Given the description of an element on the screen output the (x, y) to click on. 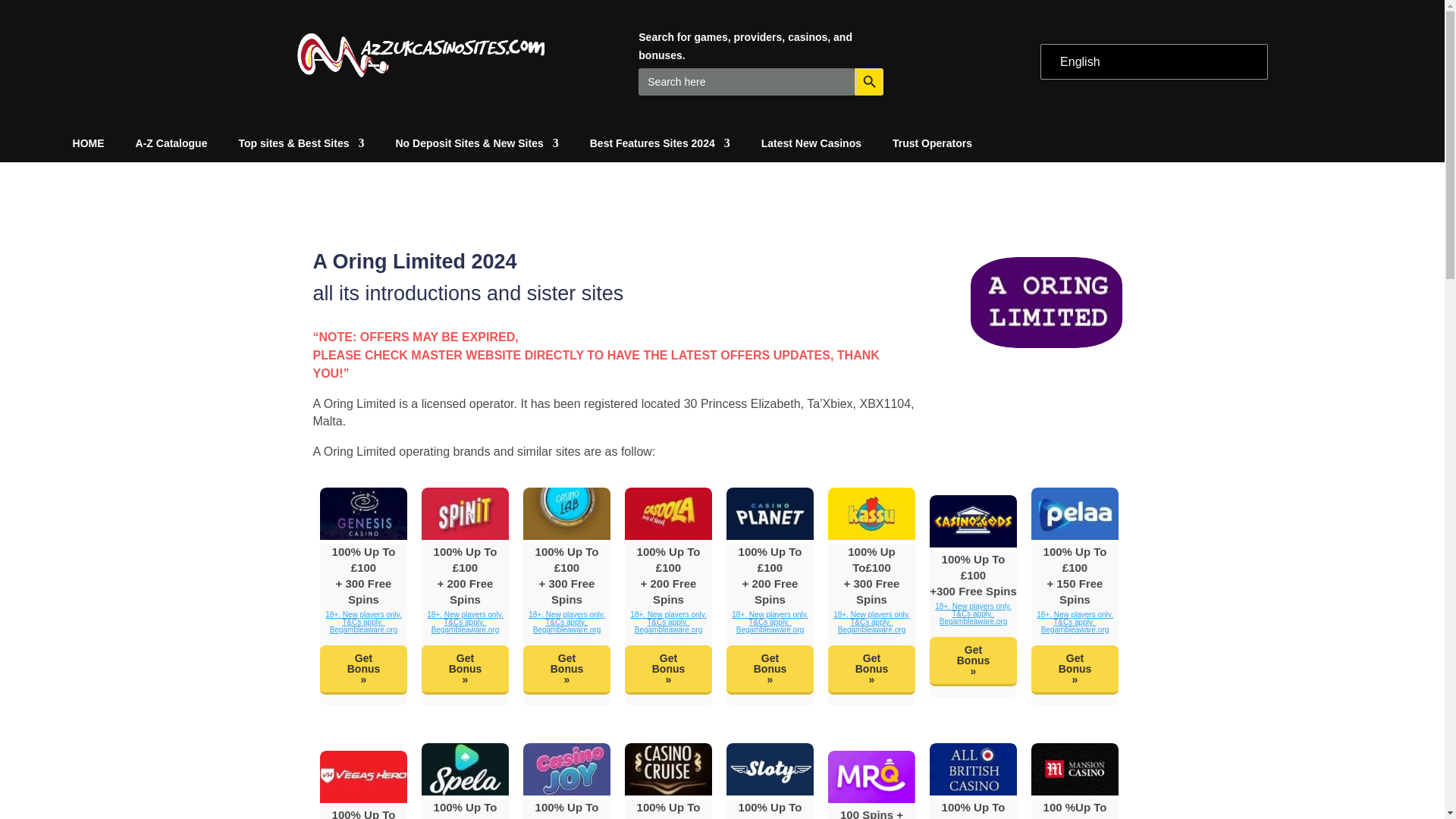
A Oring 5 (667, 512)
Trust Operators (932, 146)
A Oring 6 (769, 512)
English (1151, 61)
A Oring 4 (566, 512)
Search Button (868, 81)
A Oring 2 (363, 512)
A Oring 12 (566, 768)
HOME (88, 146)
A Oring 9 (1074, 512)
A Oring 1 (1046, 302)
English (1151, 61)
A Oring 3 (465, 512)
A-Z Catalogue (171, 146)
A Oring 8 (973, 521)
